Given the description of an element on the screen output the (x, y) to click on. 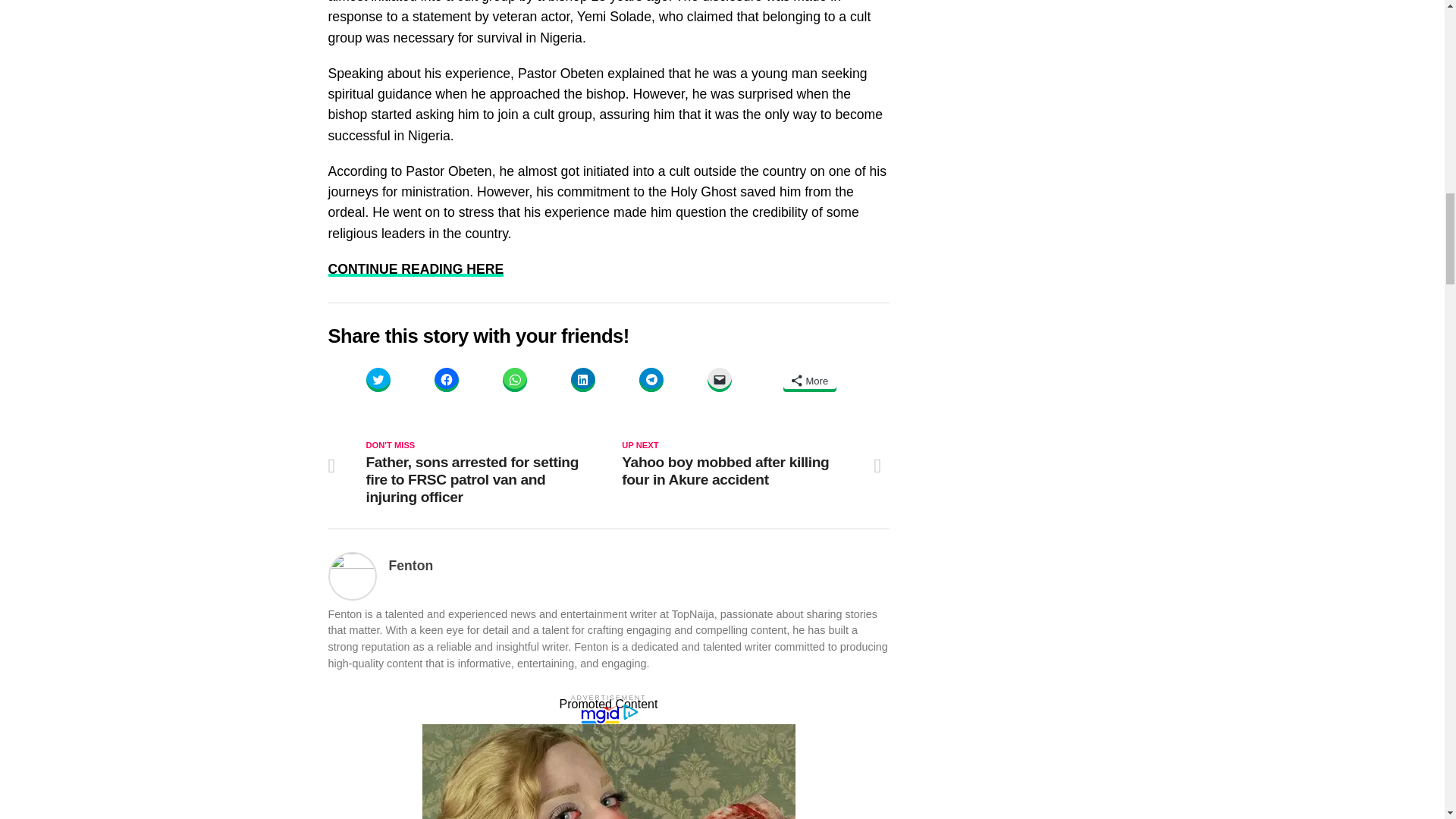
Click to share on Facebook (445, 378)
Click to share on WhatsApp (513, 378)
CONTINUE READING HERE (415, 268)
Click to share on LinkedIn (582, 378)
Click to share on Telegram (650, 378)
Click to share on Twitter (377, 378)
Click to email a link to a friend (718, 378)
